Given the description of an element on the screen output the (x, y) to click on. 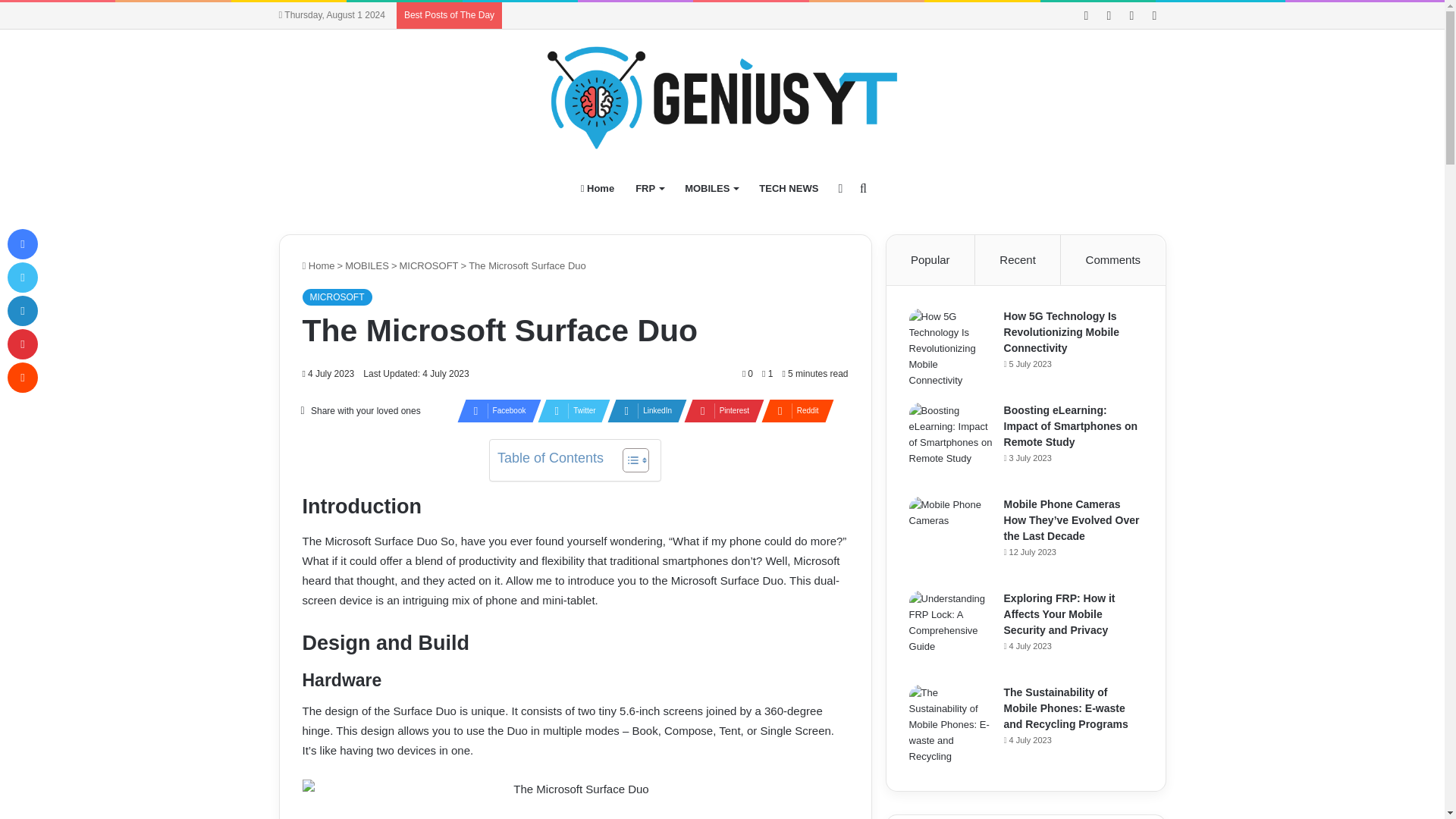
MOBILES (711, 188)
Facebook (494, 410)
GeniusYT (722, 97)
Pinterest (719, 410)
LinkedIn (642, 410)
Home (597, 188)
FRP (649, 188)
Reddit (793, 410)
Twitter (569, 410)
